Given the description of an element on the screen output the (x, y) to click on. 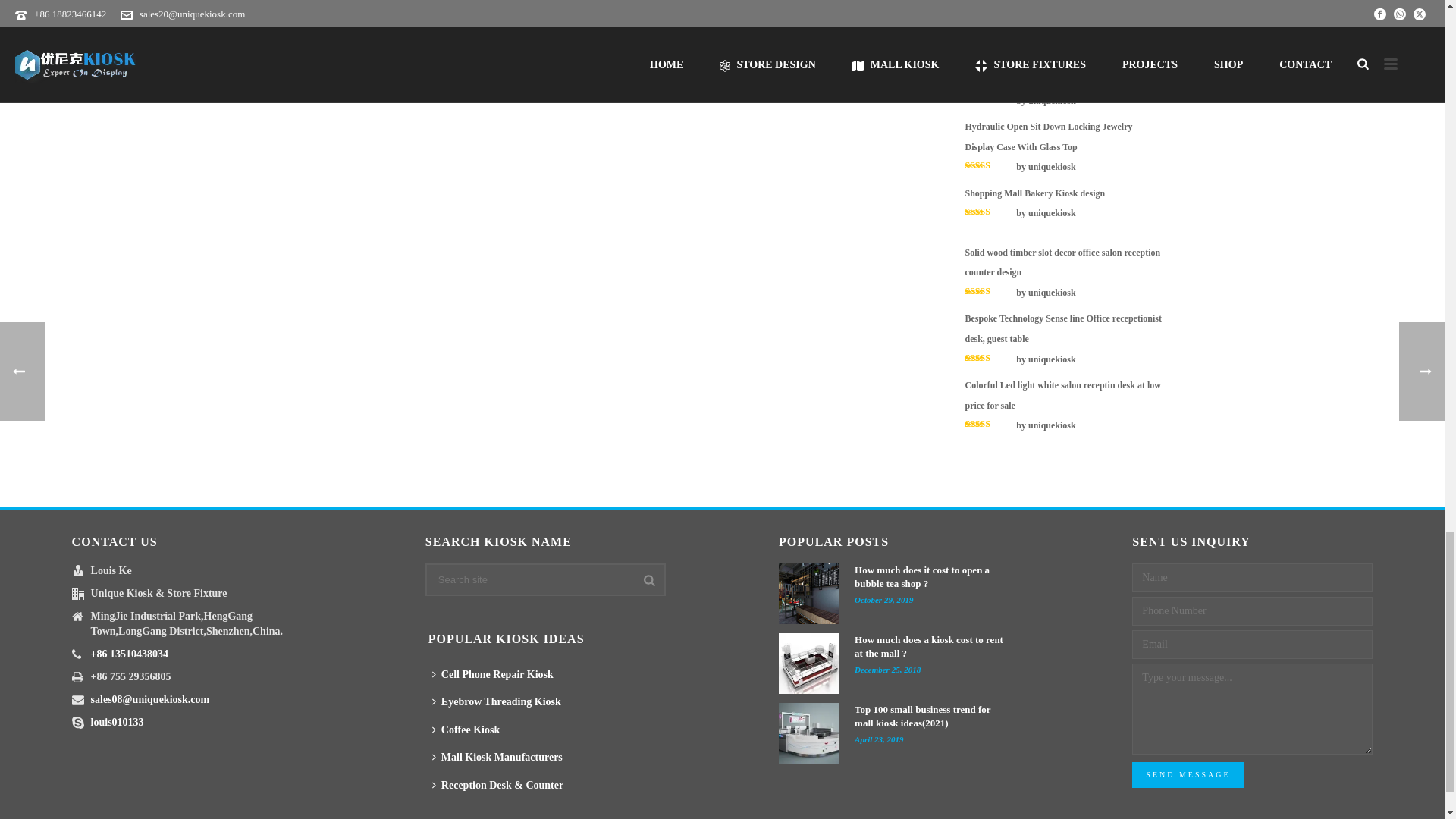
How much does it cost to open a bubble tea shop ? (809, 593)
Rated 5 out of 5 (988, 357)
Rated 5 out of 5 (988, 290)
Rated 5 out of 5 (988, 164)
Rated 5 out of 5 (988, 211)
Rated 5 out of 5 (988, 423)
Rated 5 out of 5 (988, 99)
Rated 5 out of 5 (988, 31)
